Given the description of an element on the screen output the (x, y) to click on. 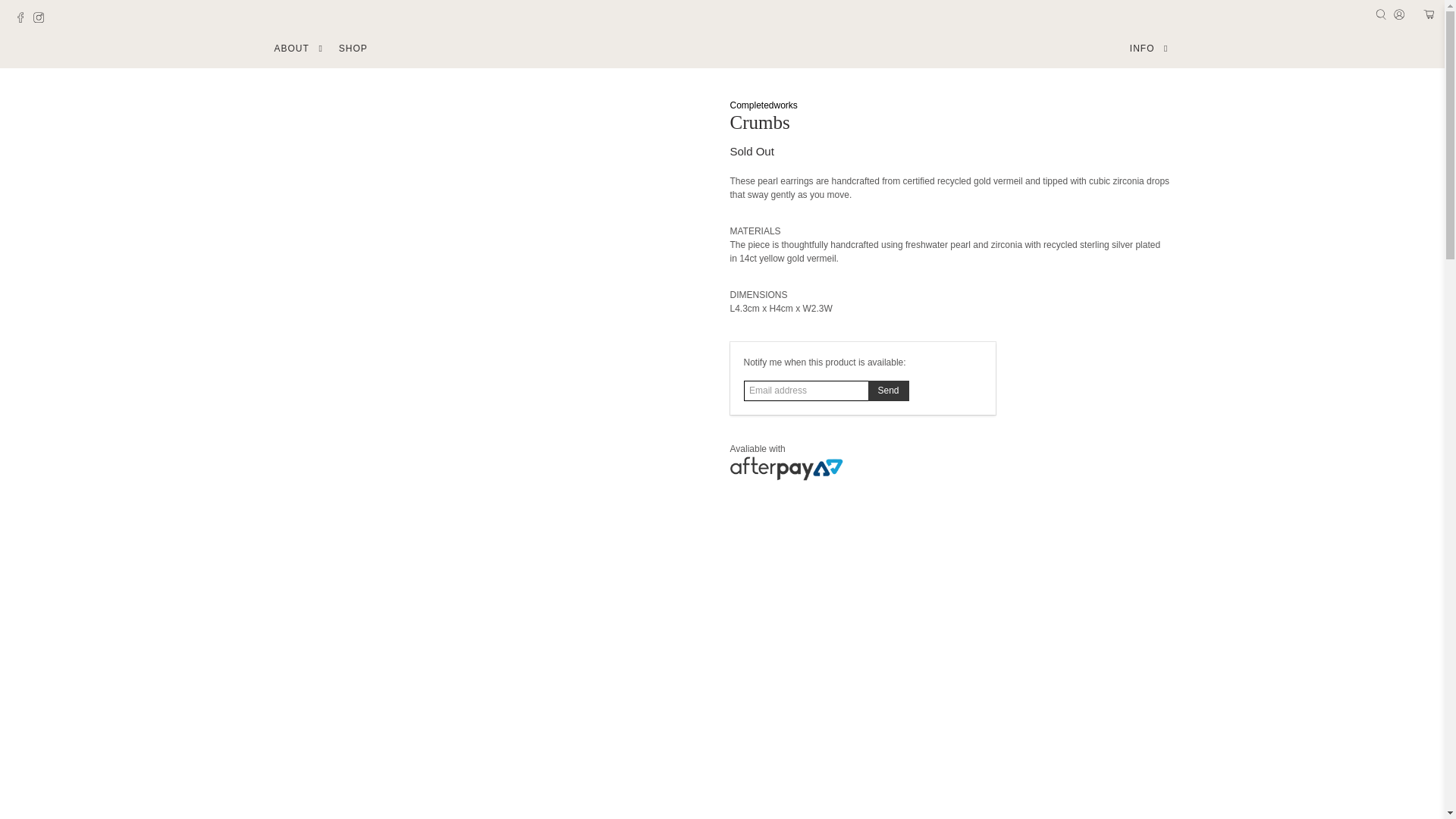
Send (887, 390)
Klemenza on Facebook (23, 19)
Klemenza on Instagram (41, 19)
Completedworks (762, 104)
SHOP (352, 48)
Klemenza (722, 48)
ABOUT (298, 48)
INFO (1149, 48)
